Given the description of an element on the screen output the (x, y) to click on. 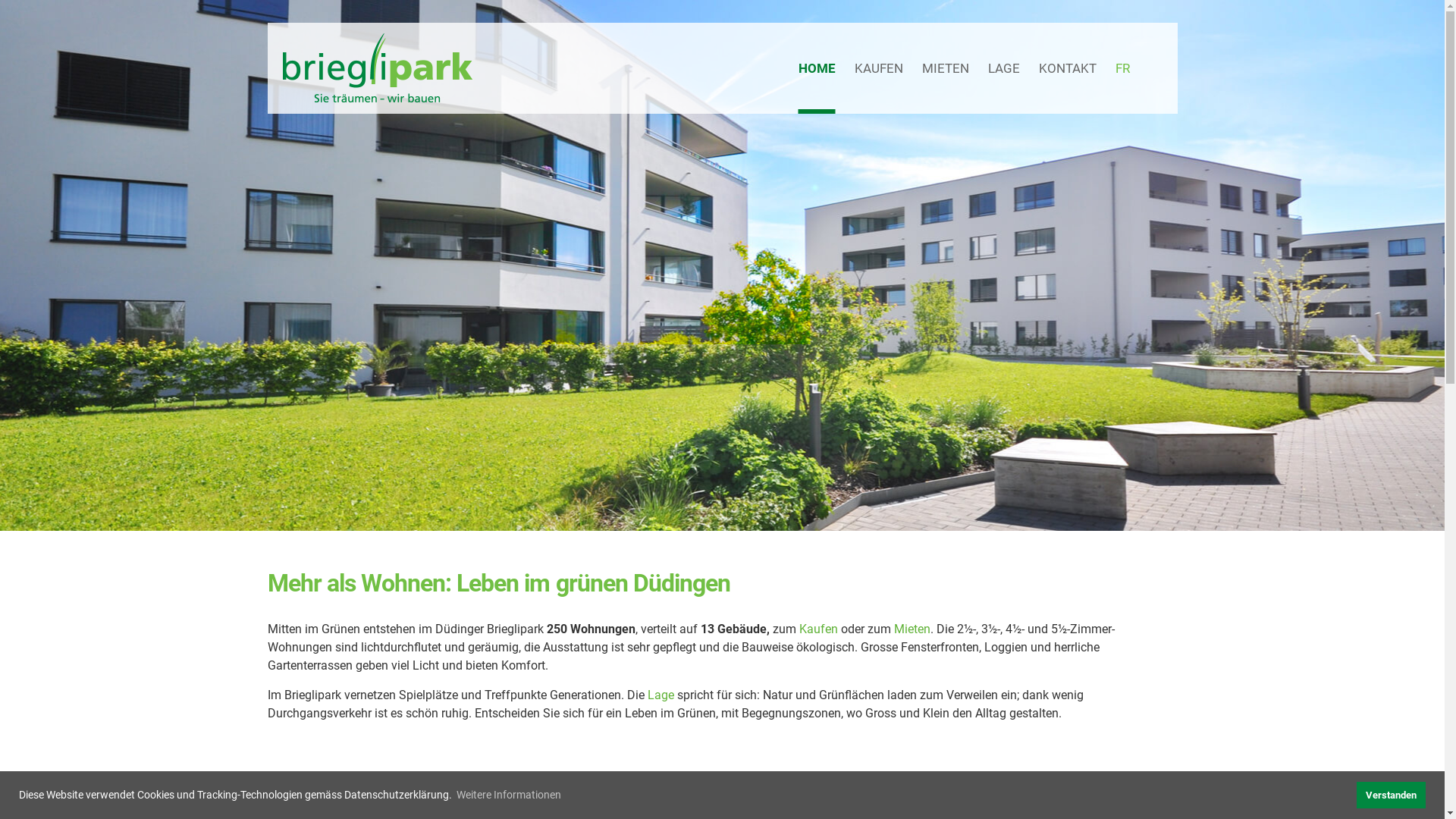
LAGE Element type: text (1003, 67)
Weitere Informationen Element type: text (508, 794)
HOME Element type: text (815, 67)
KAUFEN Element type: text (877, 67)
FR Element type: text (1121, 67)
Mieten Element type: text (911, 628)
Kaufen Element type: text (818, 628)
Lage Element type: text (660, 694)
Verstanden Element type: text (1390, 794)
Brieglipark Element type: text (376, 67)
MIETEN Element type: text (945, 67)
KONTAKT Element type: text (1067, 67)
